Given the description of an element on the screen output the (x, y) to click on. 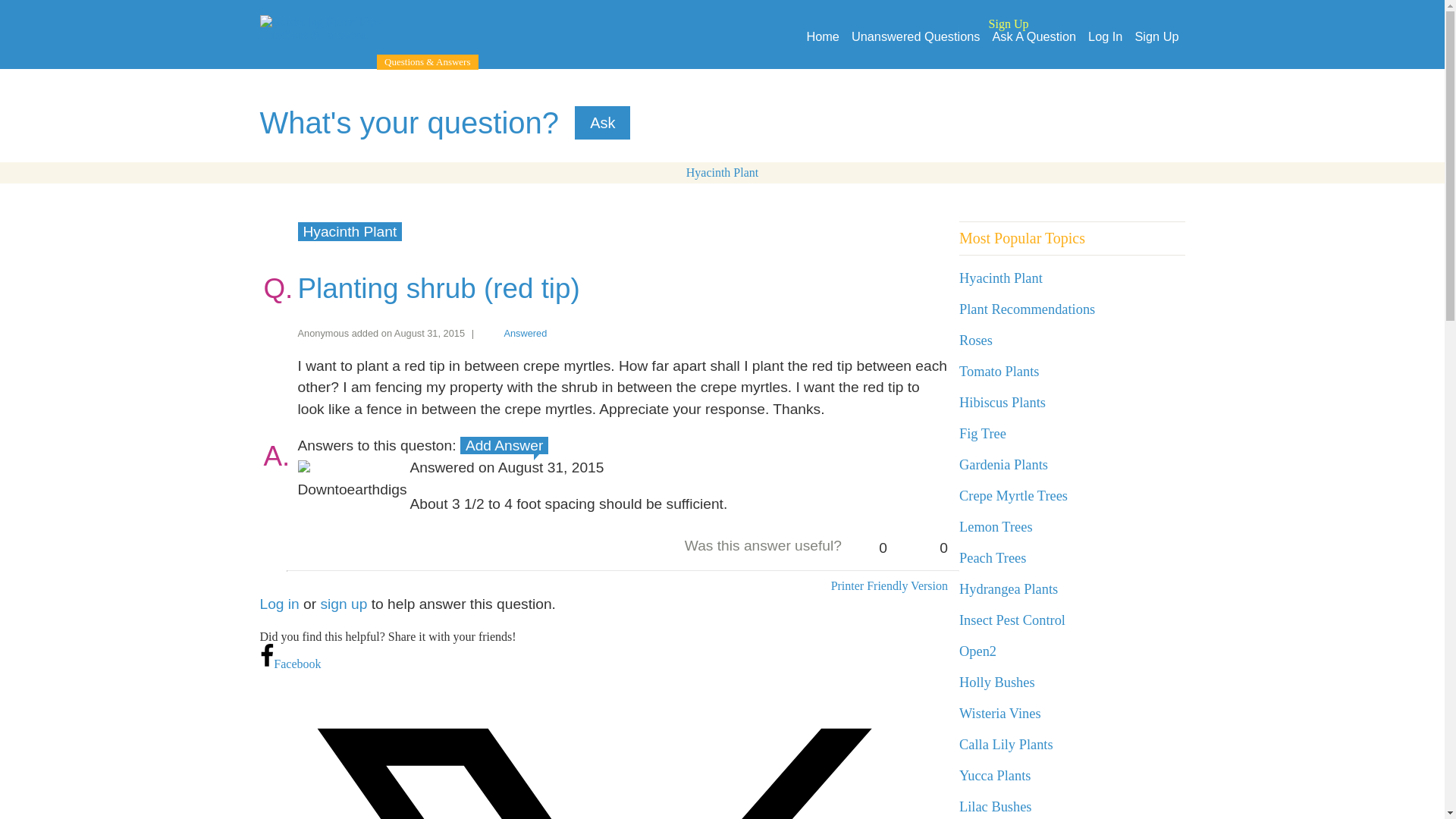
Lemon Trees (995, 526)
Gardenia Plants (1003, 464)
Hyacinth Plant (349, 230)
Insect Pest Control (1012, 620)
Hydrangea Plants (1008, 589)
Open2 (977, 651)
Tomato Plants (999, 371)
Log In (1104, 36)
Roses (975, 340)
Hibiscus Plants (1002, 402)
